Given the description of an element on the screen output the (x, y) to click on. 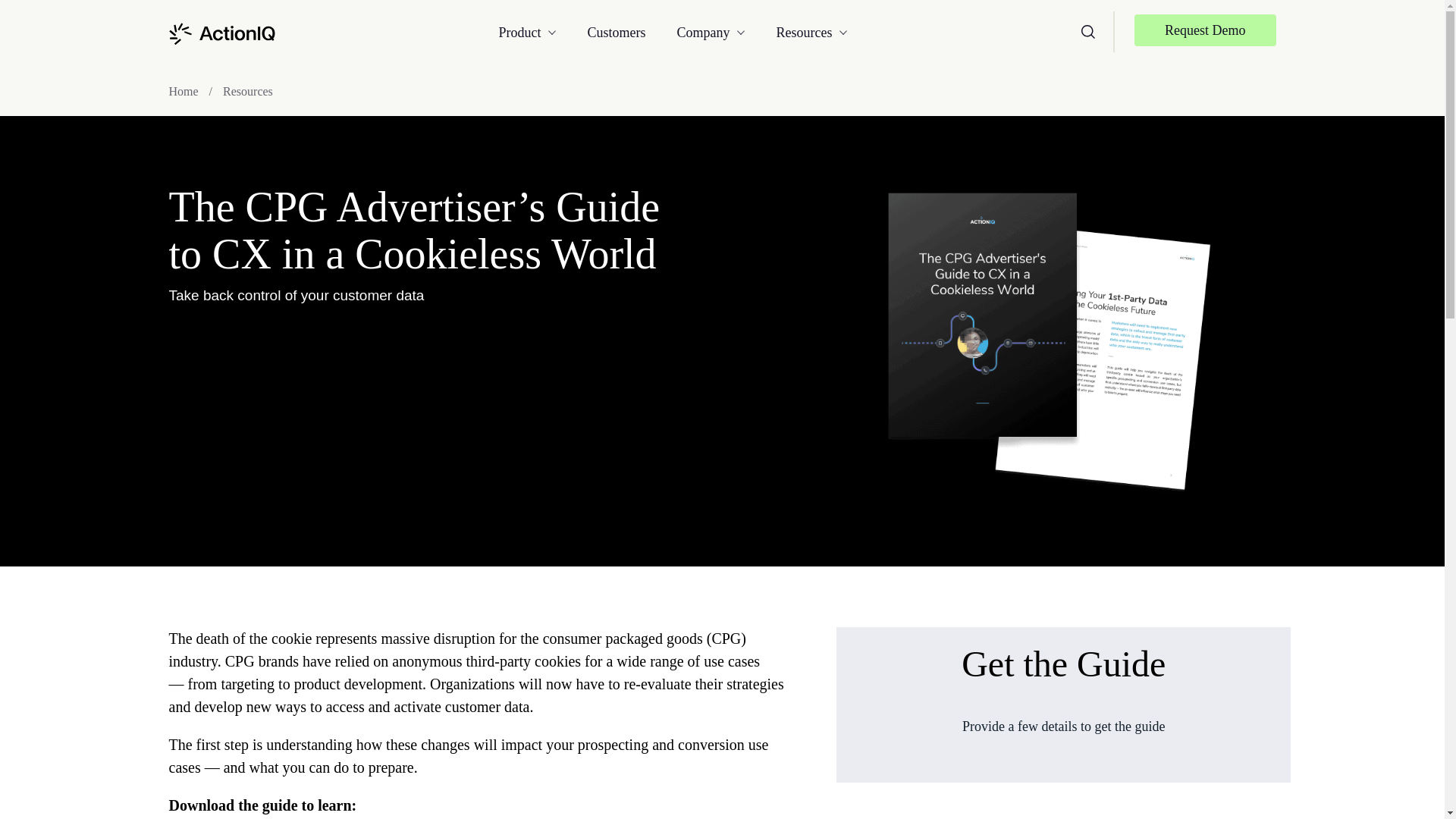
Resources (797, 32)
Search Icon (1087, 31)
ActionIQ Homepage Link (221, 32)
Search (1087, 30)
Company (710, 32)
Request Demo (1204, 29)
Product (542, 32)
Customers (623, 32)
ActionIQ Logo (221, 33)
